Given the description of an element on the screen output the (x, y) to click on. 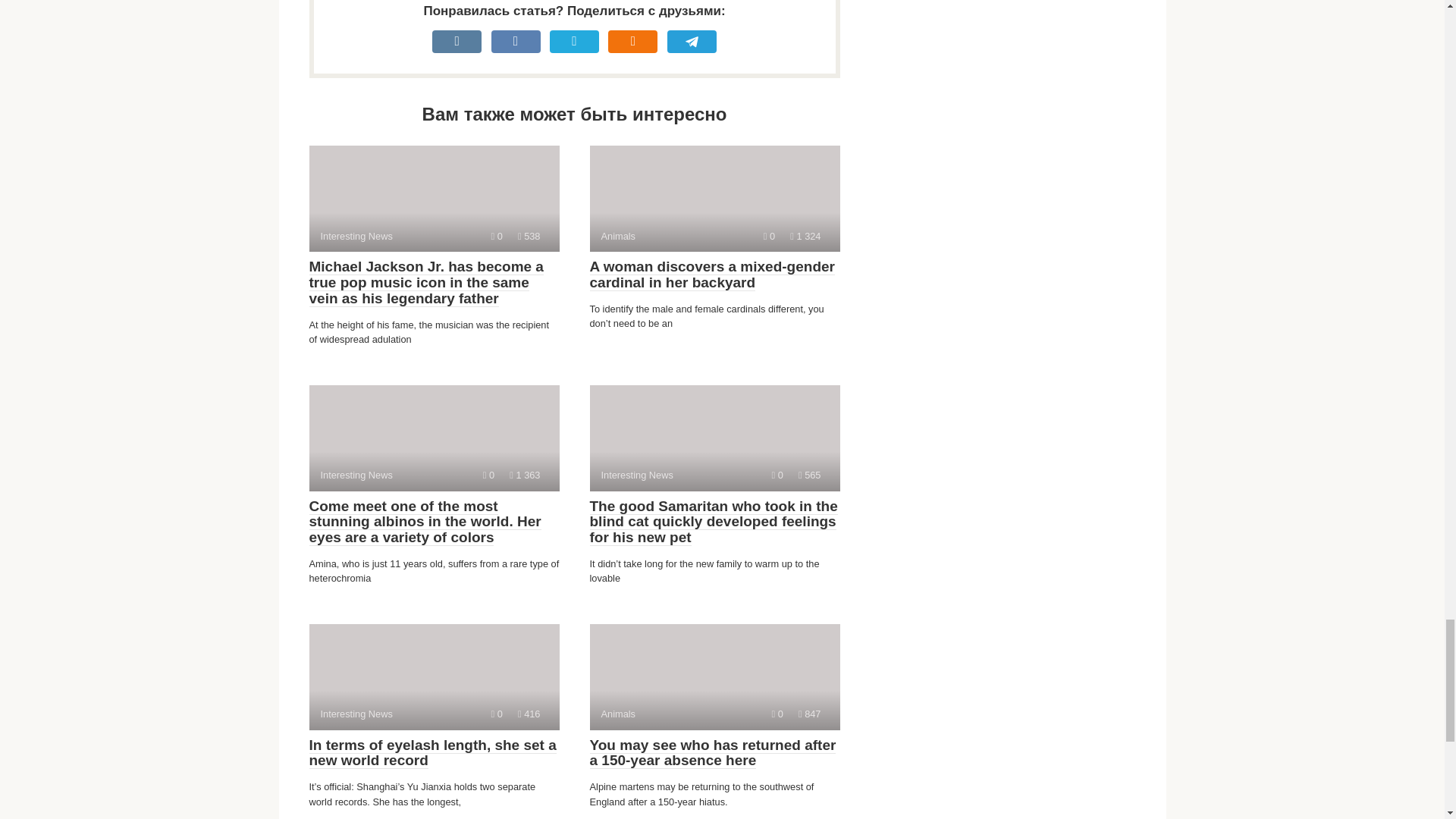
You may see who has returned after a 150-year absence here (712, 753)
In terms of eyelash length, she set a new world record (433, 437)
A woman discovers a mixed-gender cardinal in her backyard (433, 198)
